Given the description of an element on the screen output the (x, y) to click on. 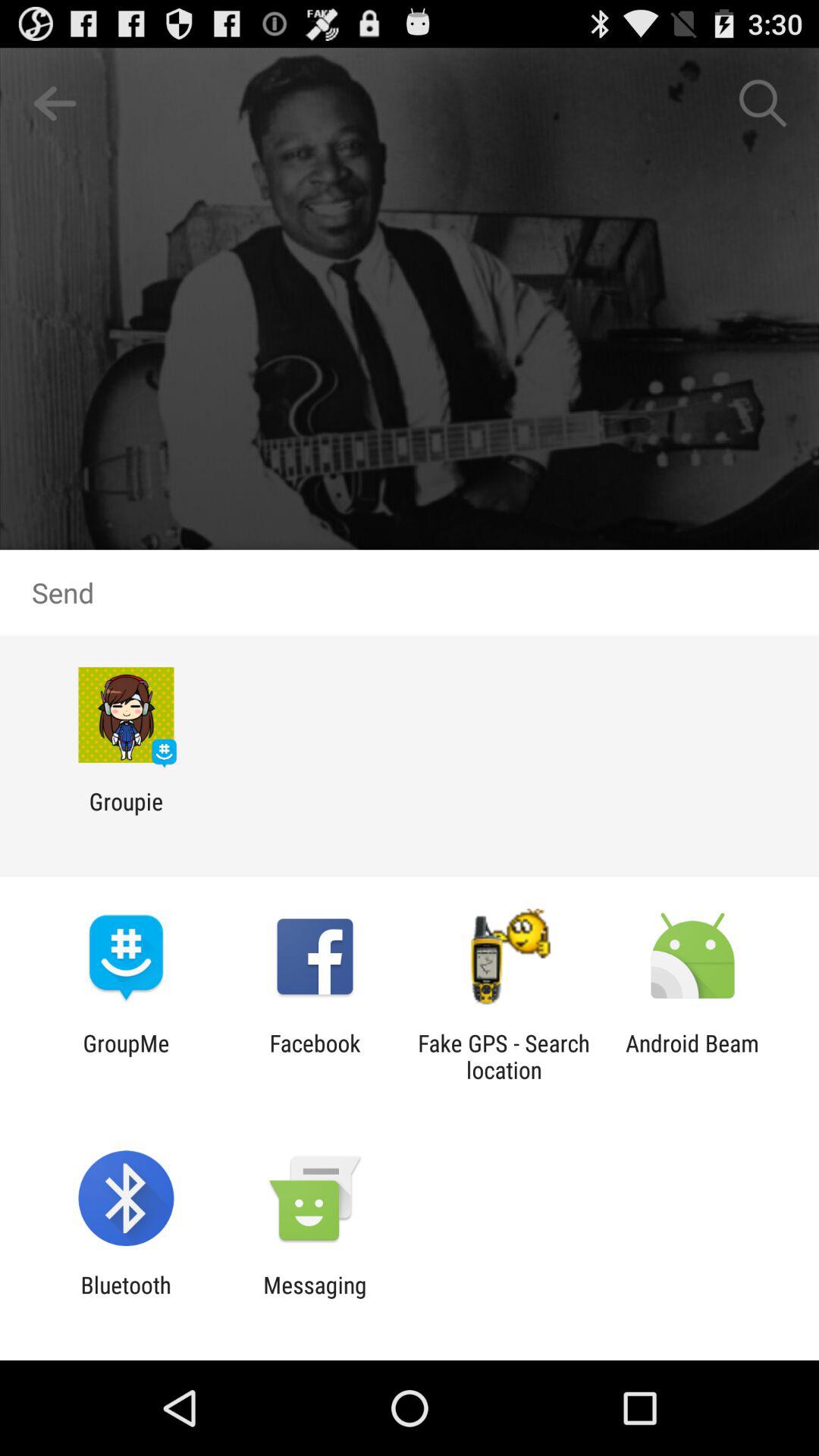
swipe to groupie (126, 814)
